Given the description of an element on the screen output the (x, y) to click on. 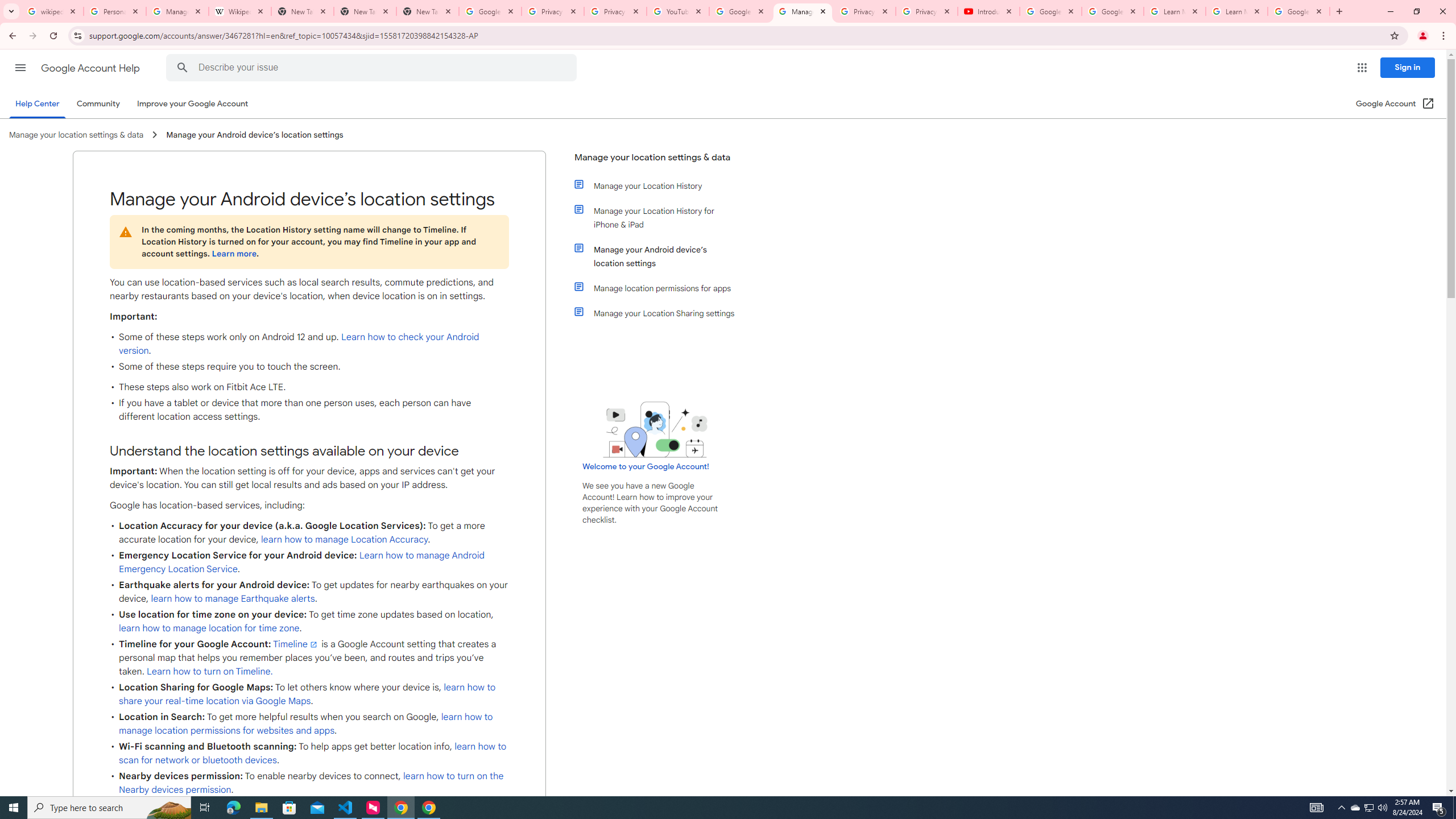
Manage location permissions for apps (661, 288)
Learn more (233, 253)
Manage your location settings & data (656, 161)
Google Account Help (740, 11)
learn how to turn on the Nearby devices permission (311, 783)
